Given the description of an element on the screen output the (x, y) to click on. 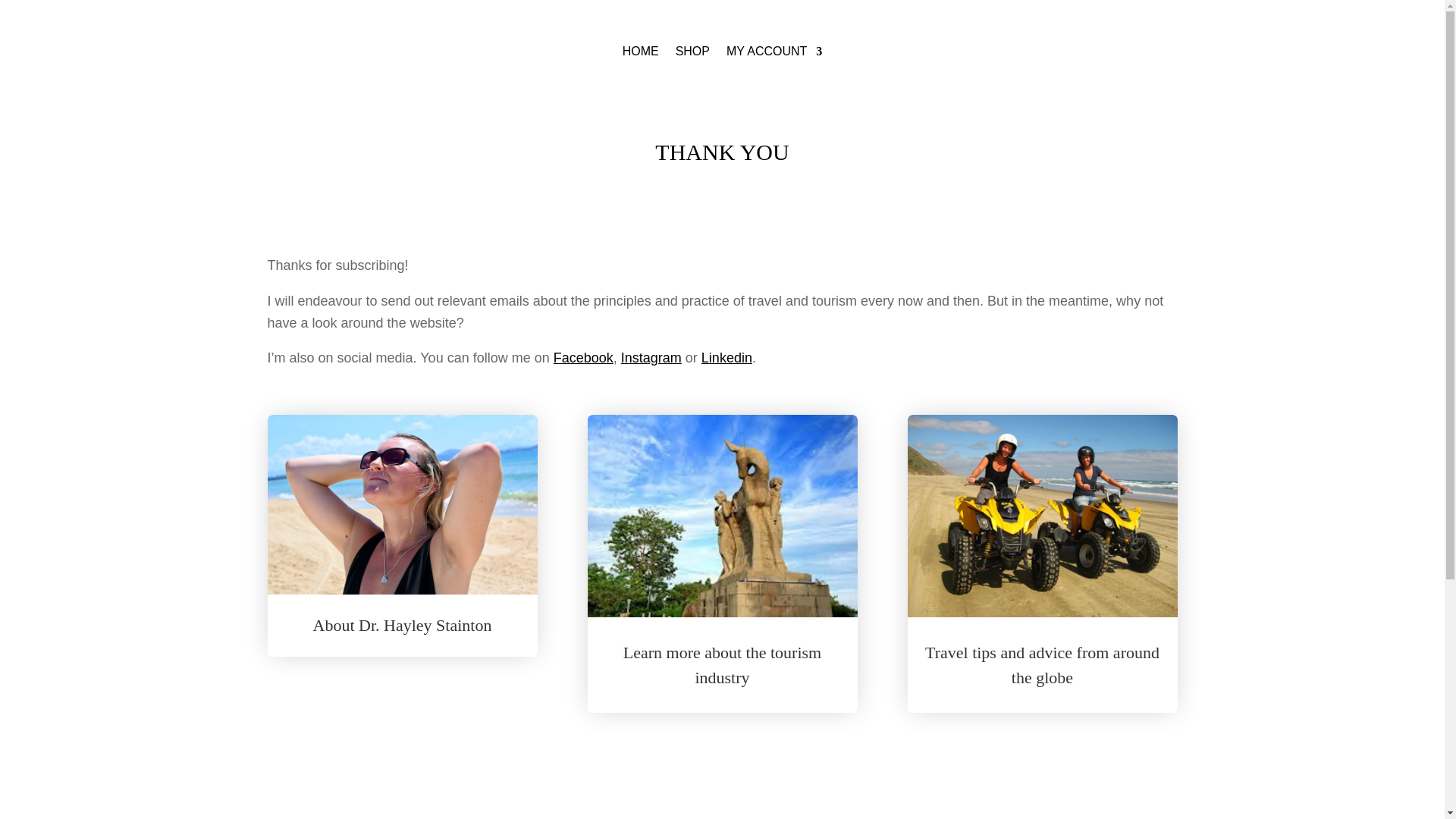
Facebook (582, 357)
Linkedin (726, 357)
Instagram (651, 357)
MY ACCOUNT (774, 51)
About Dr. Hayley Stainton (402, 624)
Learn more about the tourism industry (722, 664)
Travel tips and advice from around the globe (1041, 664)
